Given the description of an element on the screen output the (x, y) to click on. 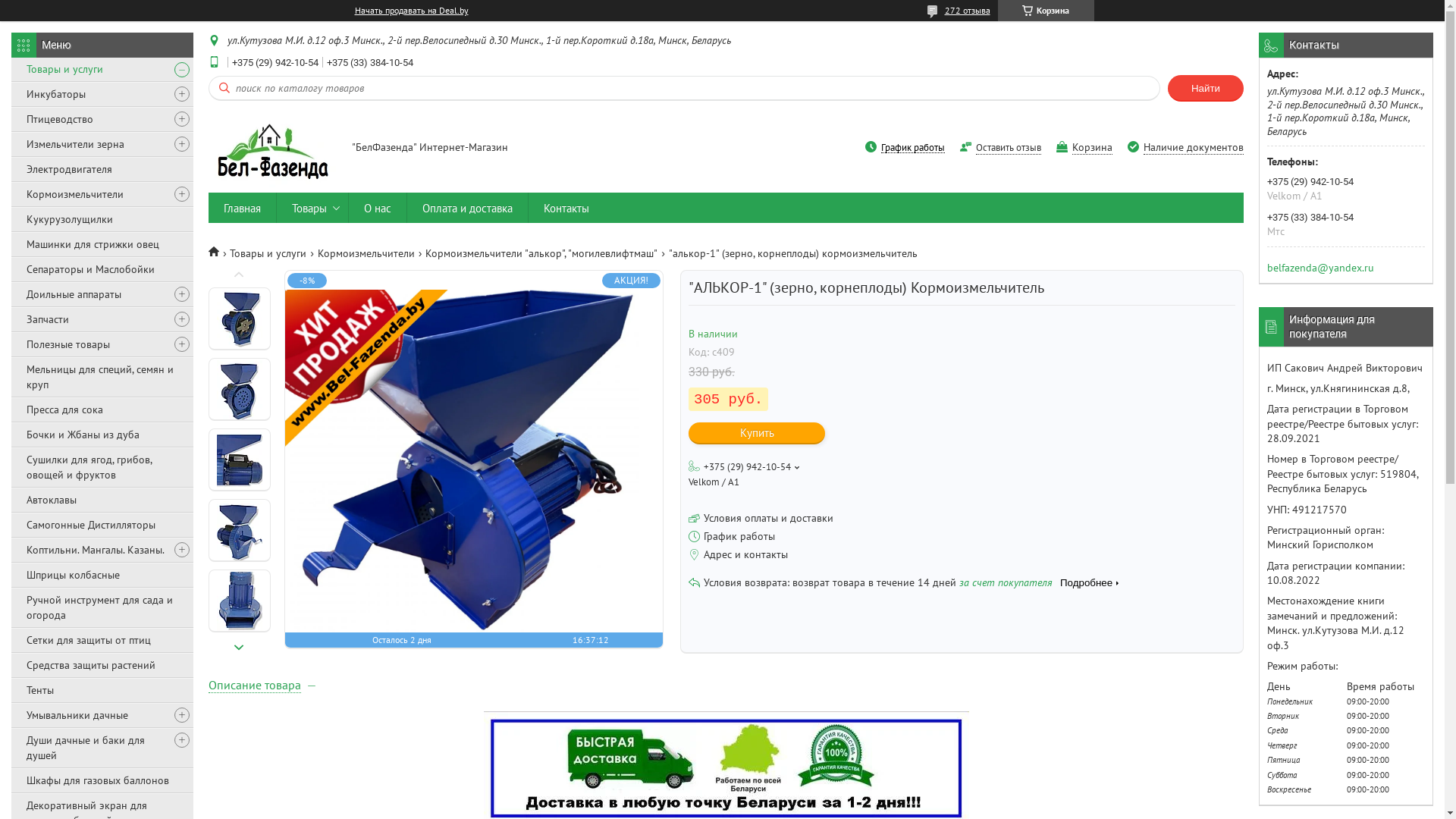
belfazenda@yandex.ru Element type: text (1320, 266)
